Given the description of an element on the screen output the (x, y) to click on. 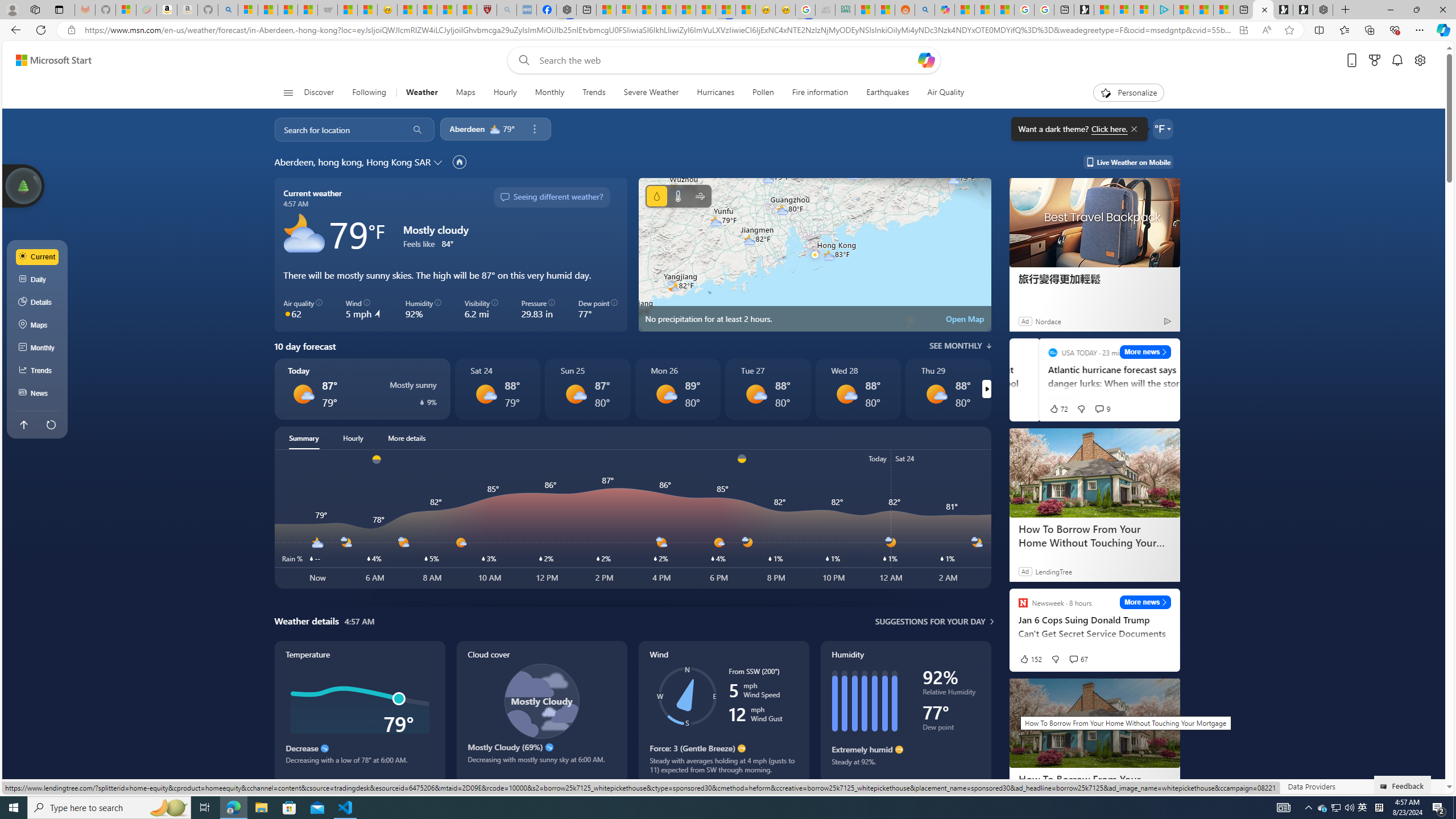
Change location (439, 161)
14 Common Myths Debunked By Scientific Facts (685, 9)
12 Popular Science Lies that Must be Corrected (466, 9)
Wind 5 mph (363, 309)
Visibility 6.2 mi (480, 309)
Your Privacy Choices (987, 786)
Steady at 92%. (905, 765)
Web search (520, 60)
Join us in planting real trees to help our planet! (23, 184)
Weather (422, 92)
